Given the description of an element on the screen output the (x, y) to click on. 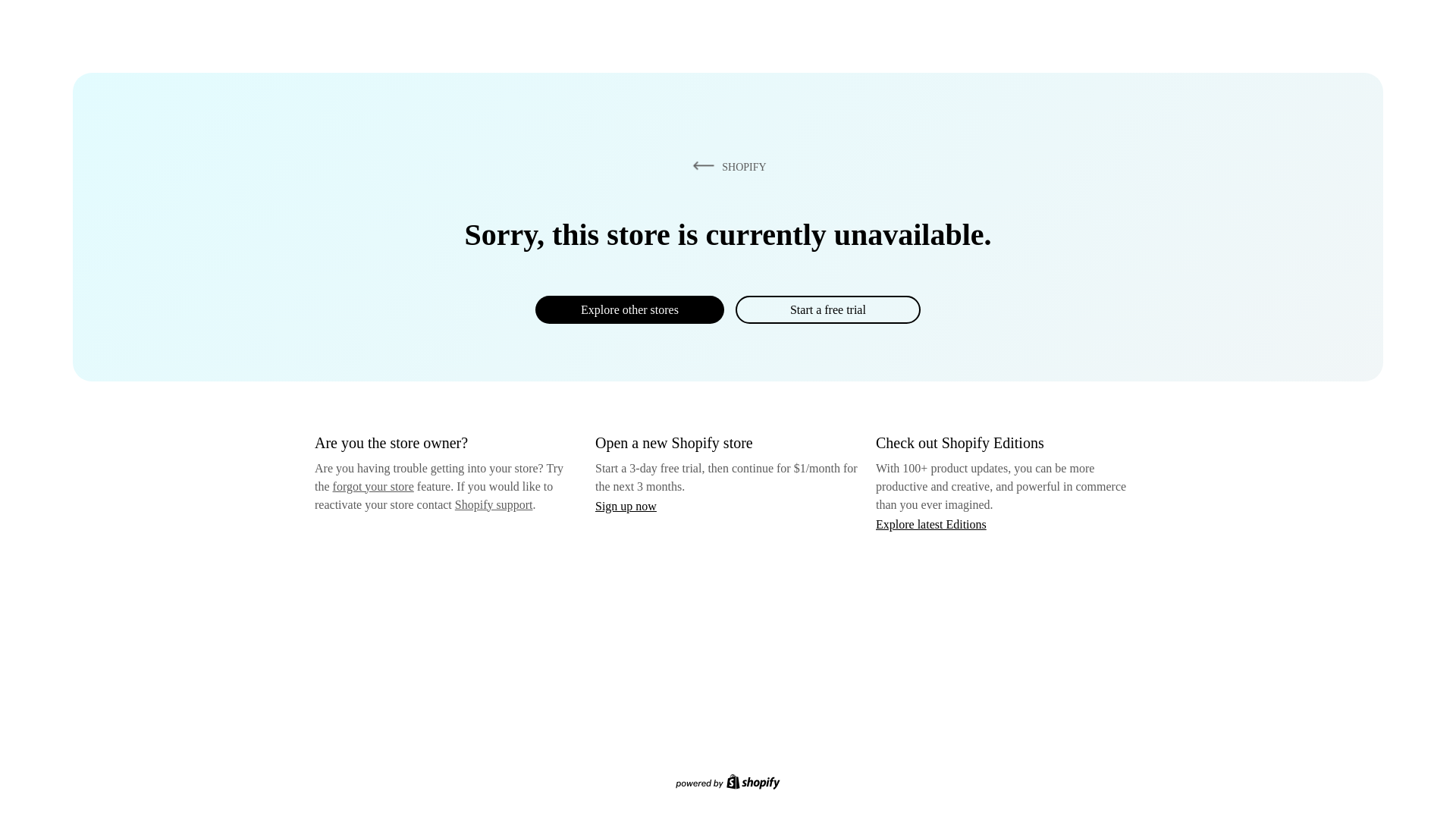
forgot your store (373, 486)
Explore latest Editions (931, 523)
Shopify support (493, 504)
Sign up now (625, 505)
Start a free trial (827, 309)
SHOPIFY (726, 166)
Explore other stores (629, 309)
